Given the description of an element on the screen output the (x, y) to click on. 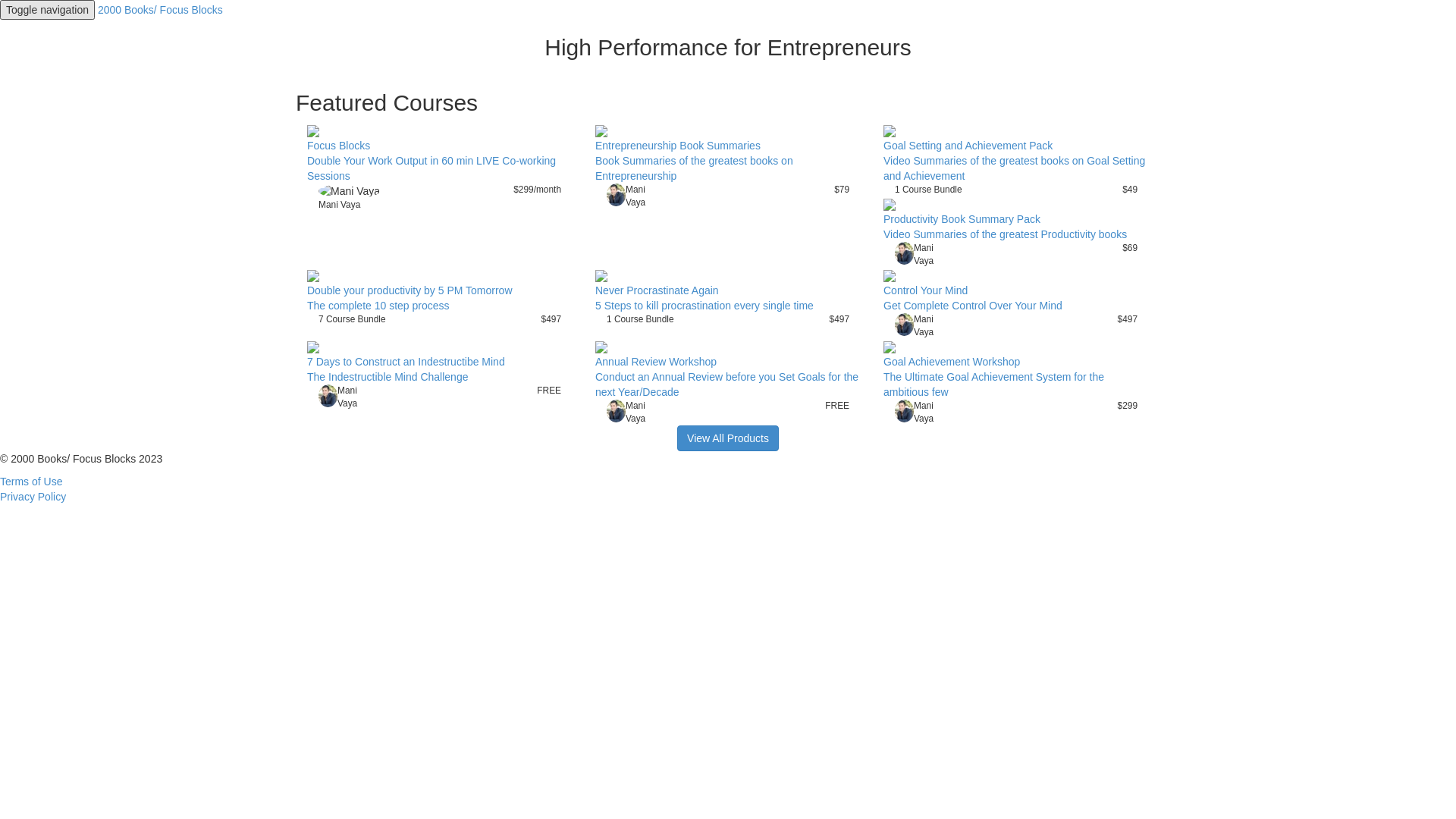
2000 Books/ Focus Blocks Element type: text (159, 9)
Toggle navigation Element type: text (47, 9)
Privacy Policy Element type: text (32, 496)
View All Products Element type: text (727, 438)
Terms of Use Element type: text (31, 481)
